Given the description of an element on the screen output the (x, y) to click on. 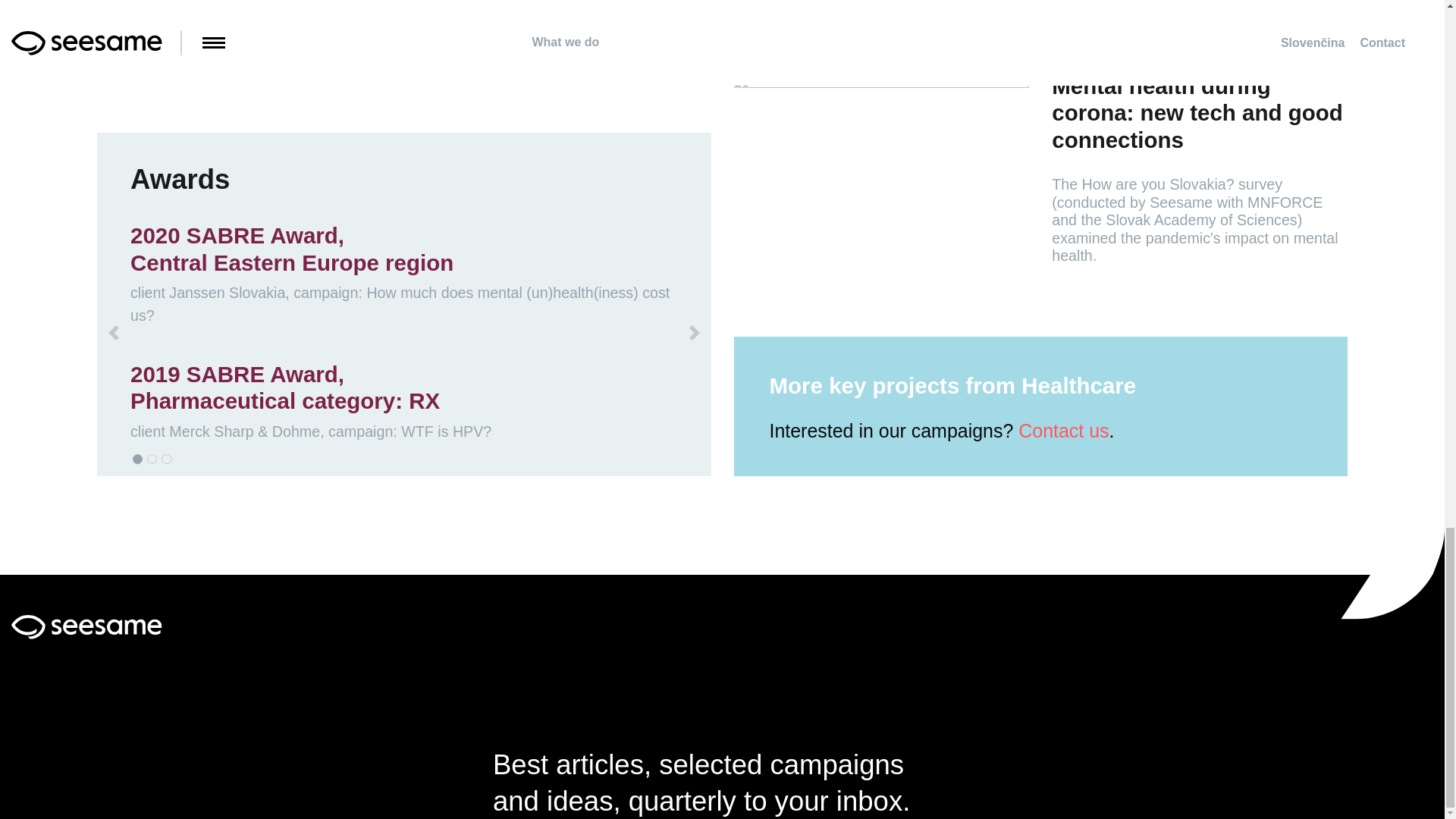
seesame (86, 625)
More key projects from Healthcare (965, 385)
Contact us (1062, 430)
